Given the description of an element on the screen output the (x, y) to click on. 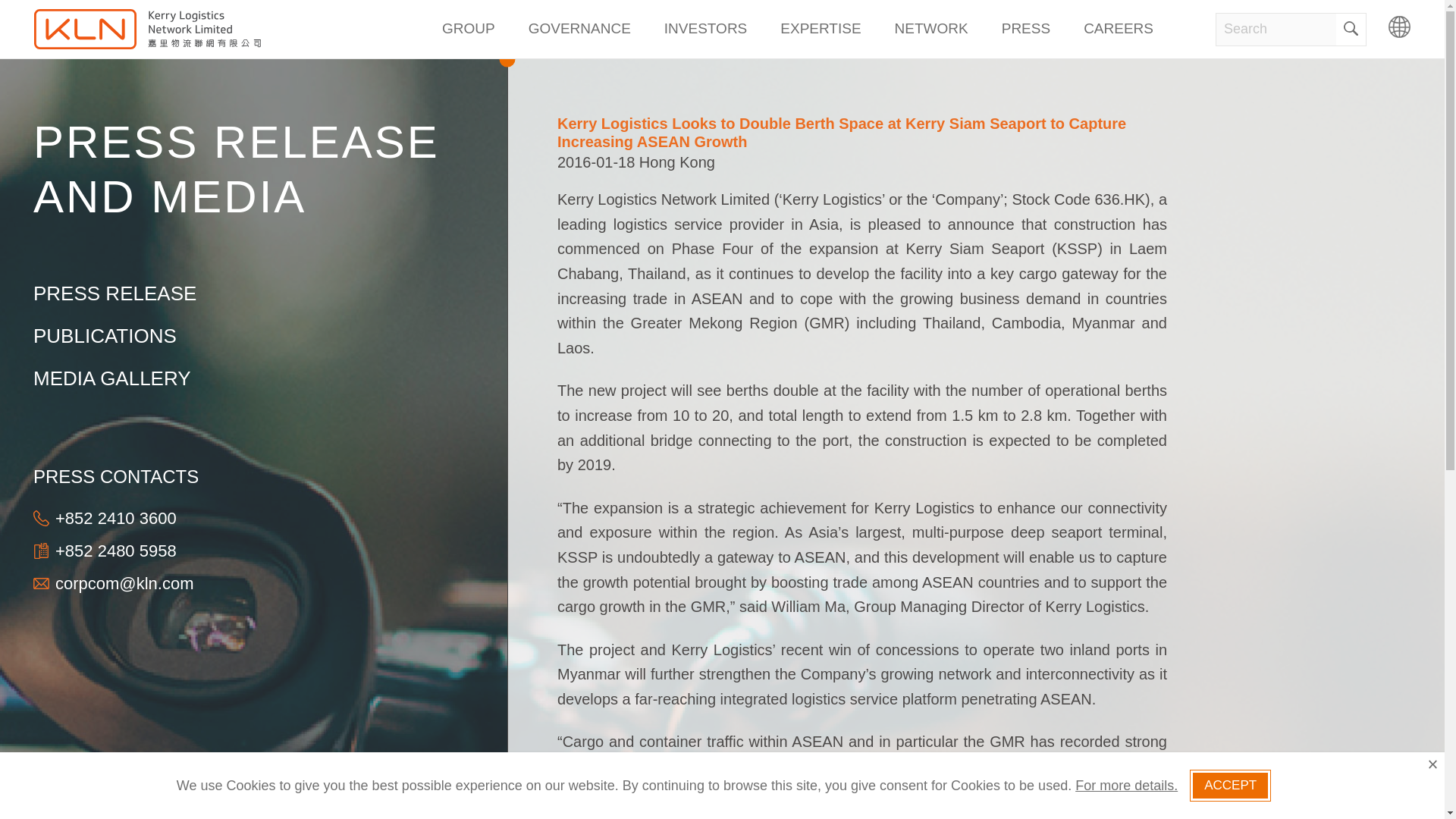
INVESTORS (705, 29)
GROUP (467, 29)
GOVERNANCE (580, 29)
EXPERTISE (820, 29)
